Given the description of an element on the screen output the (x, y) to click on. 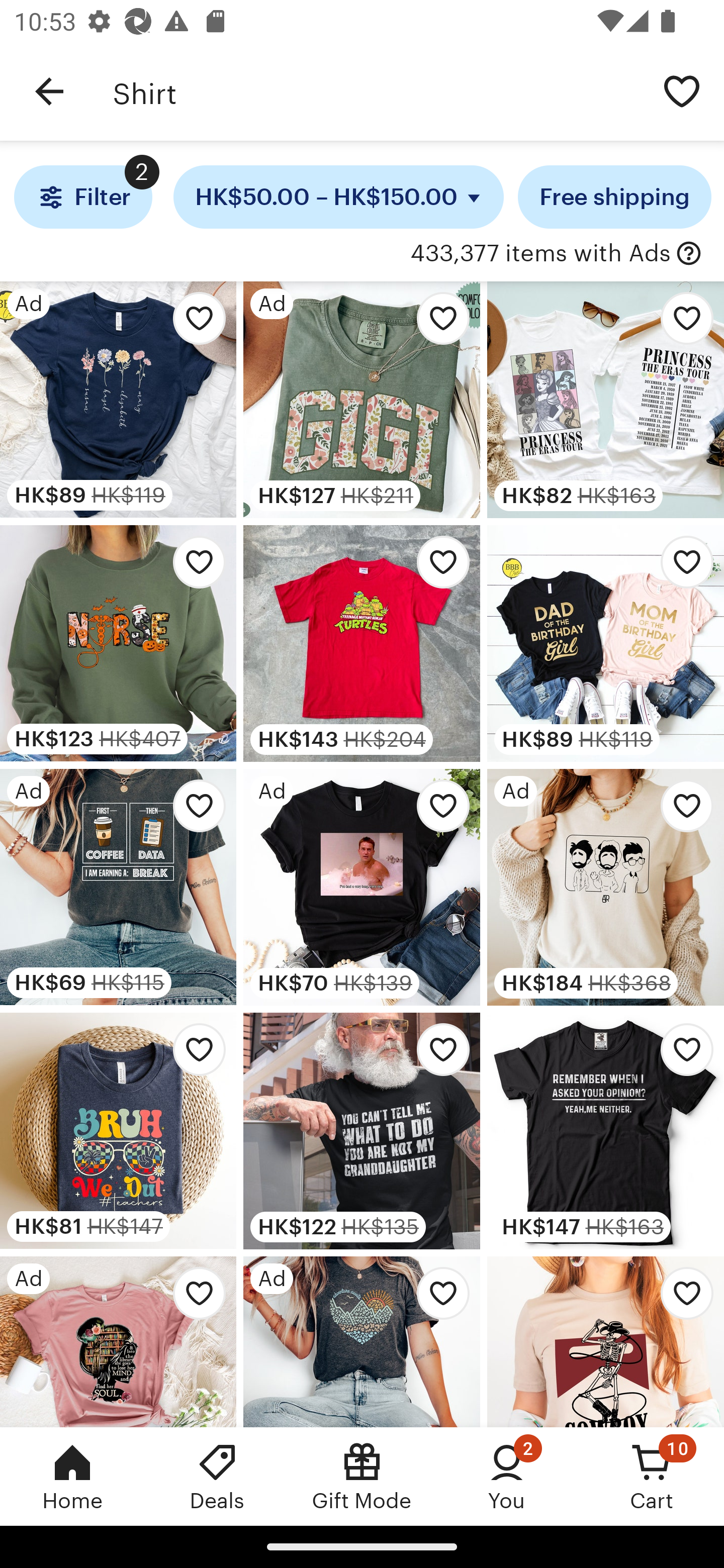
Navigate up (49, 91)
Save search (681, 90)
Shirt (375, 91)
Filter (82, 197)
HK$50.00 – HK$150.00 (338, 197)
Free shipping (614, 197)
433,377 items with Ads (540, 253)
with Ads (688, 253)
Deals (216, 1475)
Gift Mode (361, 1475)
You, 2 new notifications You (506, 1475)
Cart, 10 new notifications Cart (651, 1475)
